Given the description of an element on the screen output the (x, y) to click on. 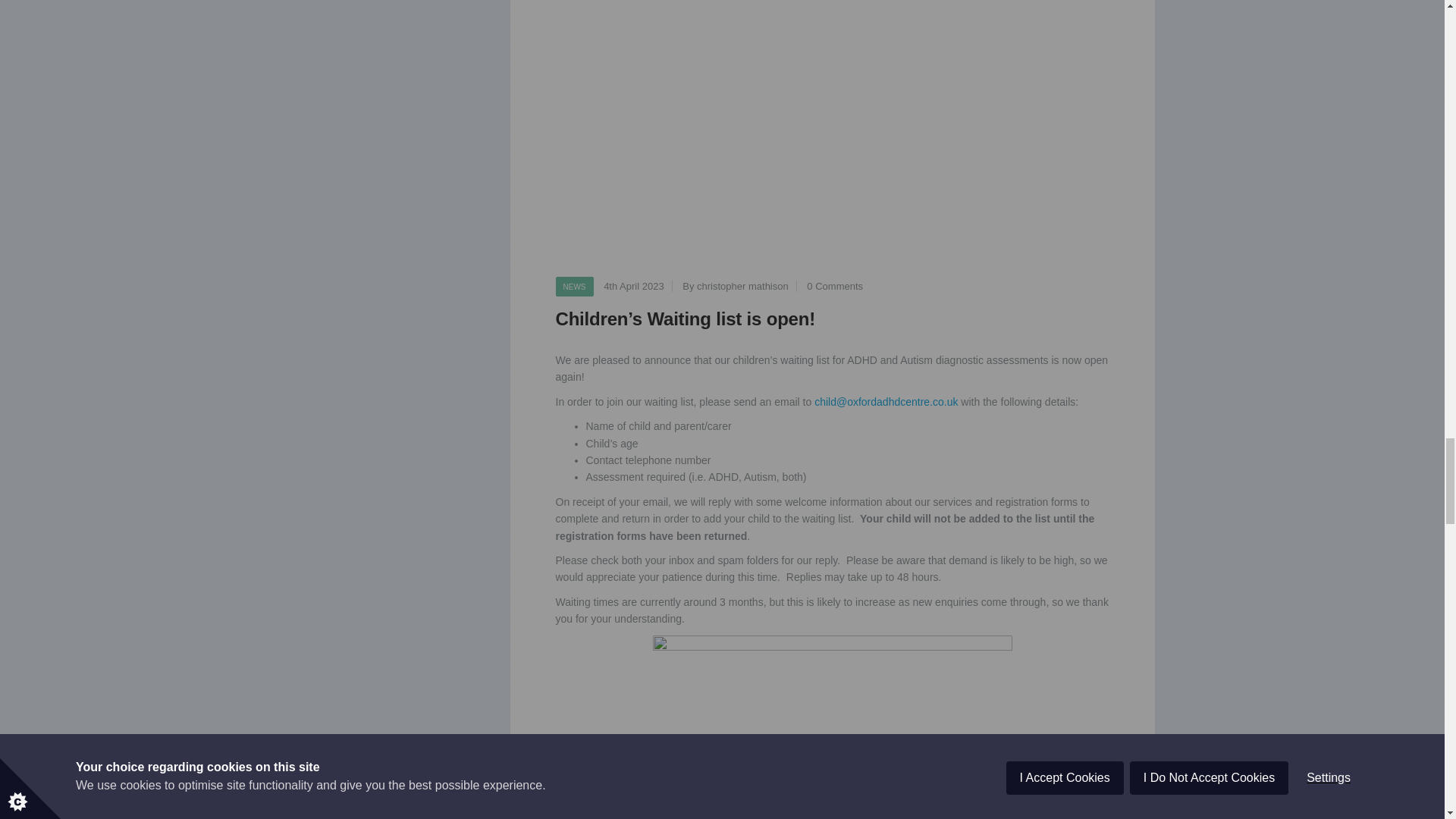
0 Comments (834, 285)
NEWS (573, 286)
